Given the description of an element on the screen output the (x, y) to click on. 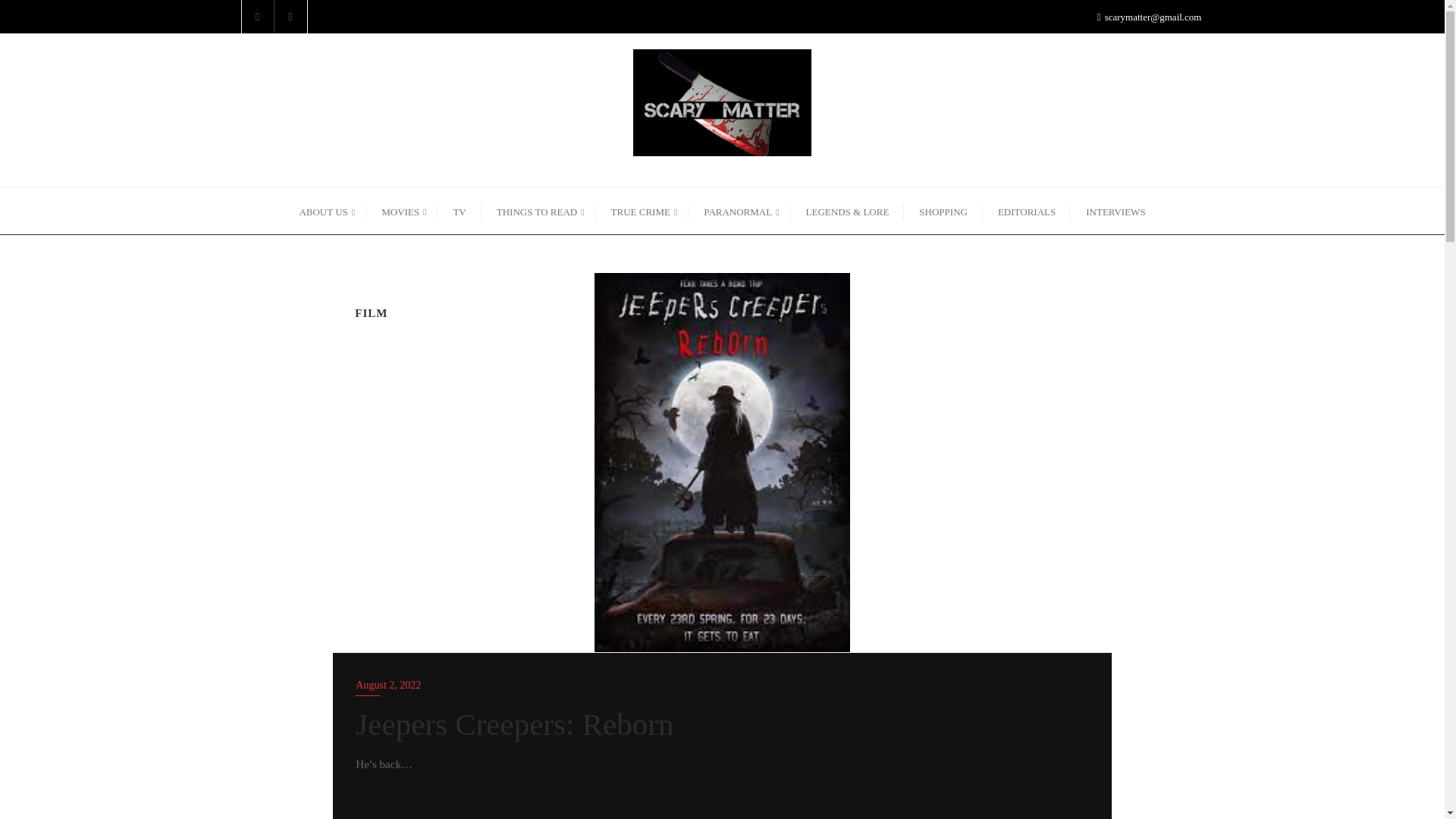
Jeepers Creepers: Reborn (722, 461)
SHOPPING (943, 210)
MOVIES (402, 210)
EDITORIALS (1026, 210)
ABOUT US (324, 210)
INTERVIEWS (1115, 210)
THINGS TO READ (538, 210)
TRUE CRIME (641, 210)
TV (459, 210)
PARANORMAL (739, 210)
